Given the description of an element on the screen output the (x, y) to click on. 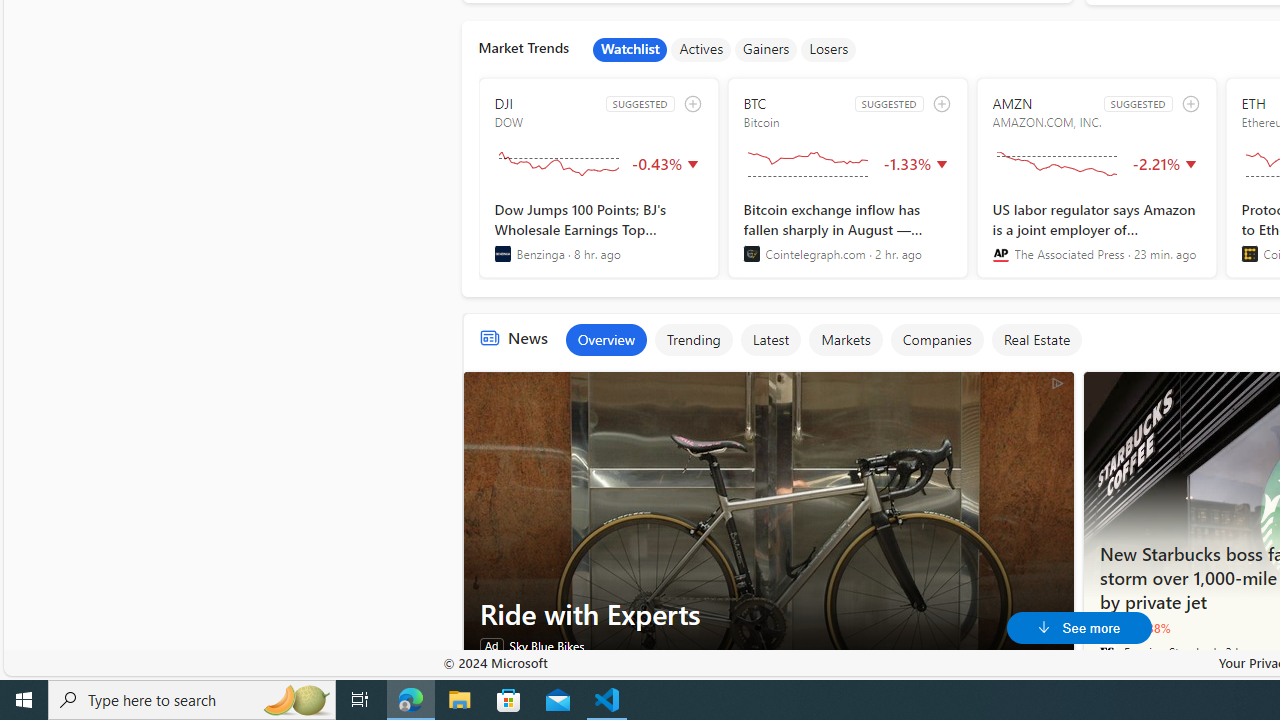
add to watchlist (1189, 103)
CoinDesk (1249, 254)
Real Estate (1035, 339)
Evening Standard (1107, 651)
Losers (829, 49)
AMZN SUGGESTED AMAZON.COM, INC. (1096, 178)
Companies (936, 339)
Trending (693, 339)
Ride with Experts (768, 521)
Watchlist (630, 49)
BTC SUGGESTED Bitcoin (847, 178)
